Given the description of an element on the screen output the (x, y) to click on. 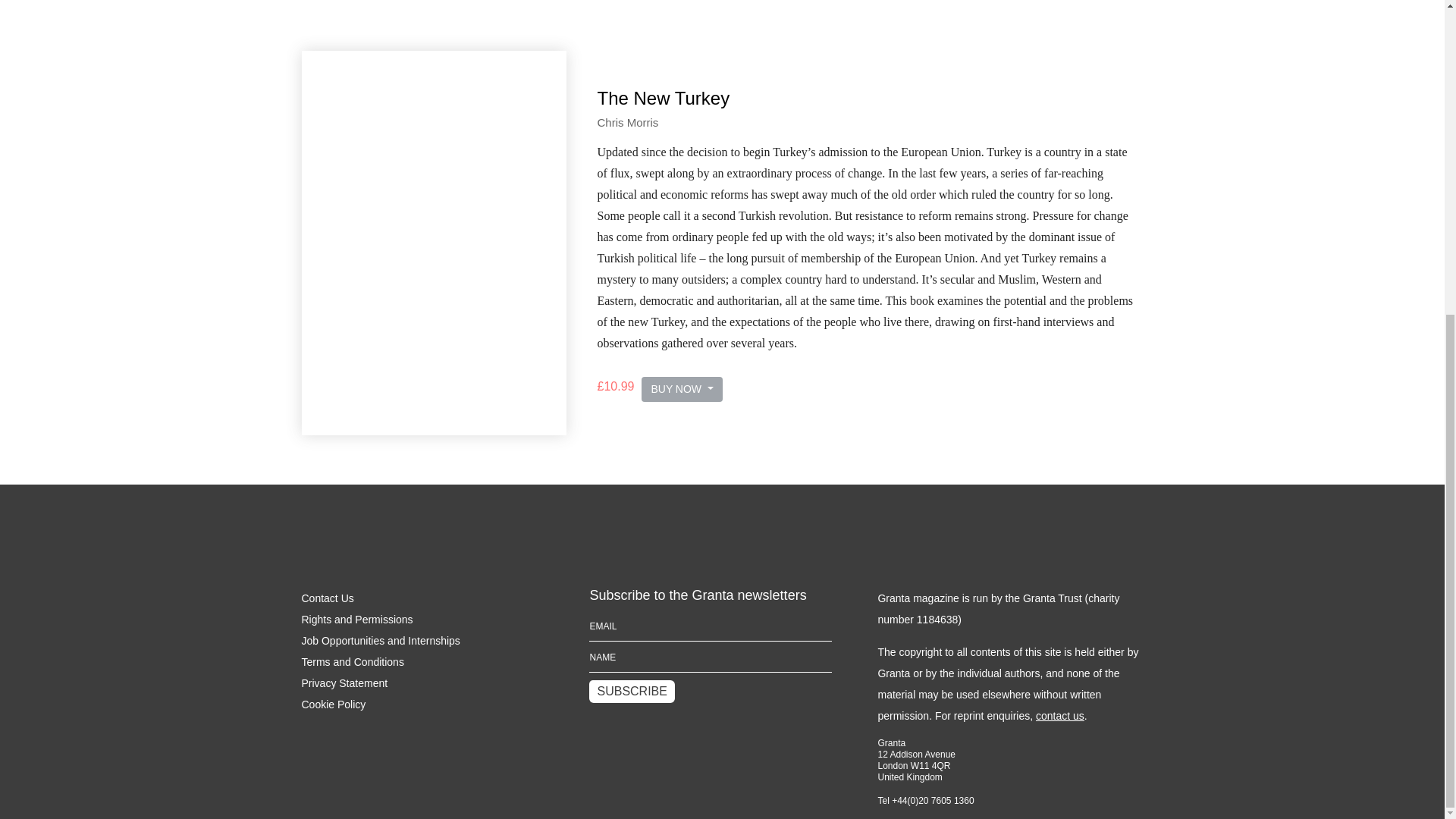
Email (710, 625)
